Given the description of an element on the screen output the (x, y) to click on. 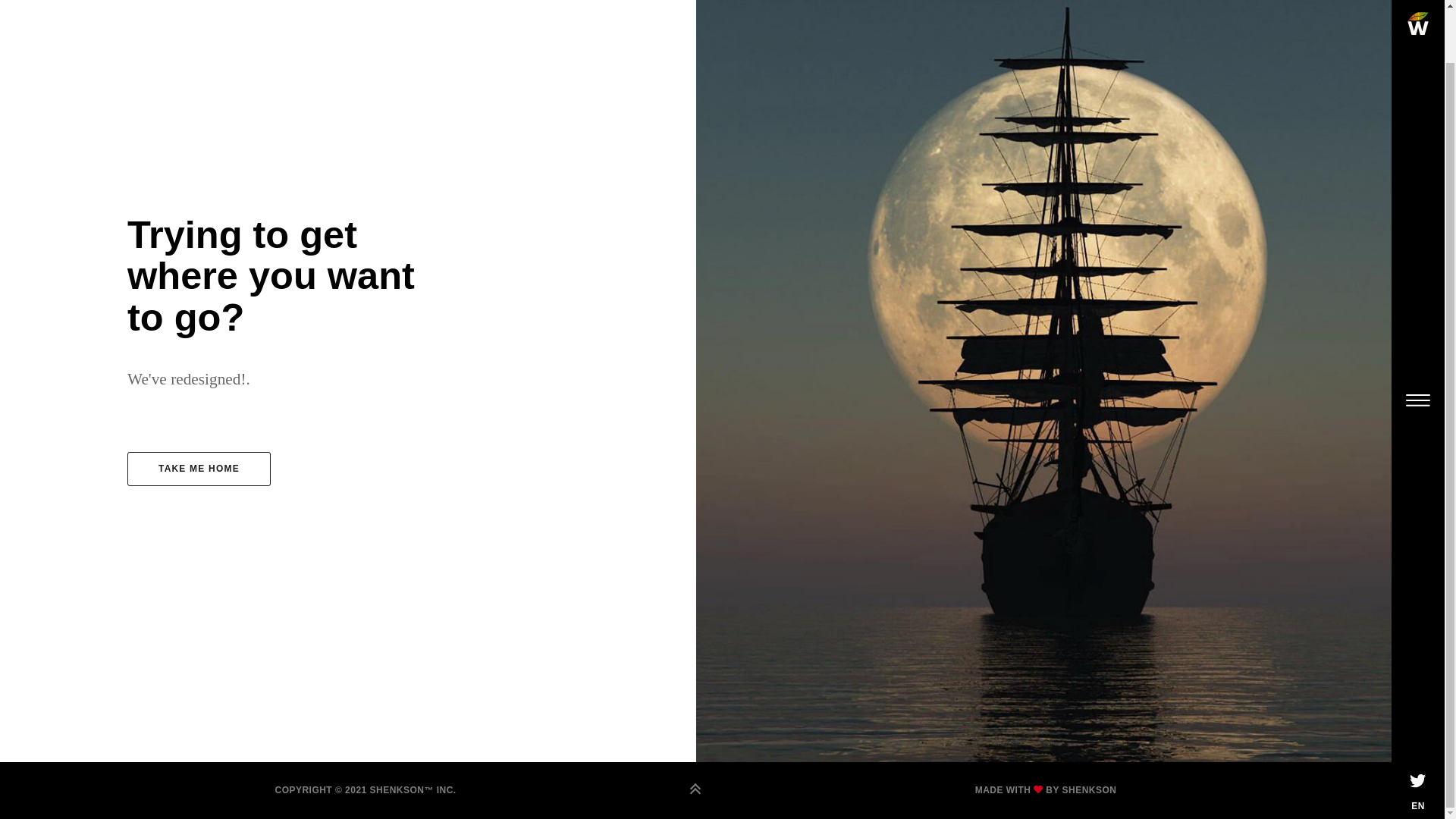
TAKE ME HOME (199, 469)
SHENKSON (1089, 789)
